Given the description of an element on the screen output the (x, y) to click on. 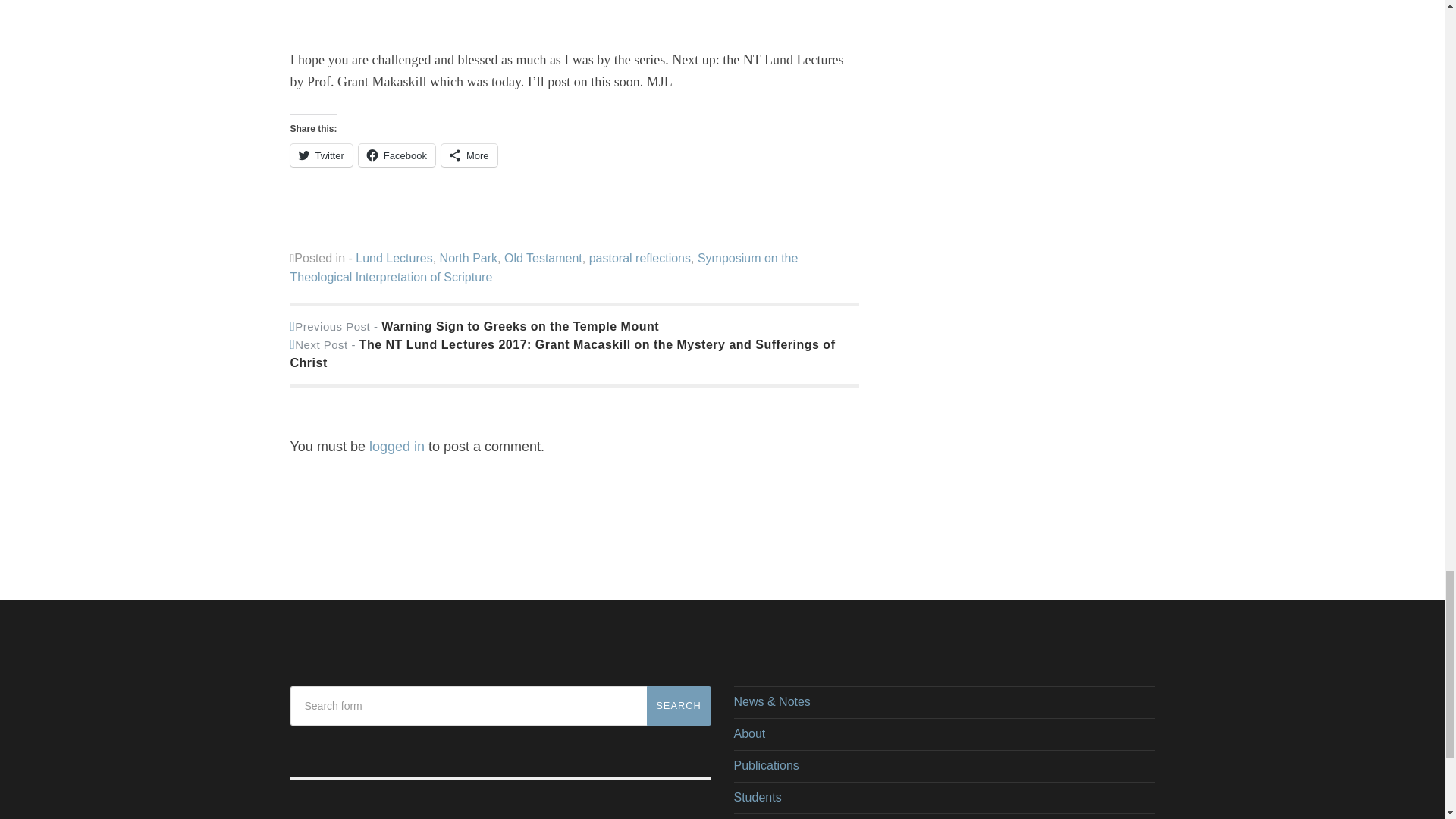
pastoral reflections (639, 257)
Search (678, 705)
North Park (468, 257)
Click to share on Twitter (320, 155)
logged in (397, 446)
Click to share on Facebook (396, 155)
Symposium on the Theological Interpretation of Scripture (543, 267)
Lund Lectures (393, 257)
Facebook (396, 155)
More (469, 155)
Twitter (320, 155)
Old Testament (542, 257)
